Given the description of an element on the screen output the (x, y) to click on. 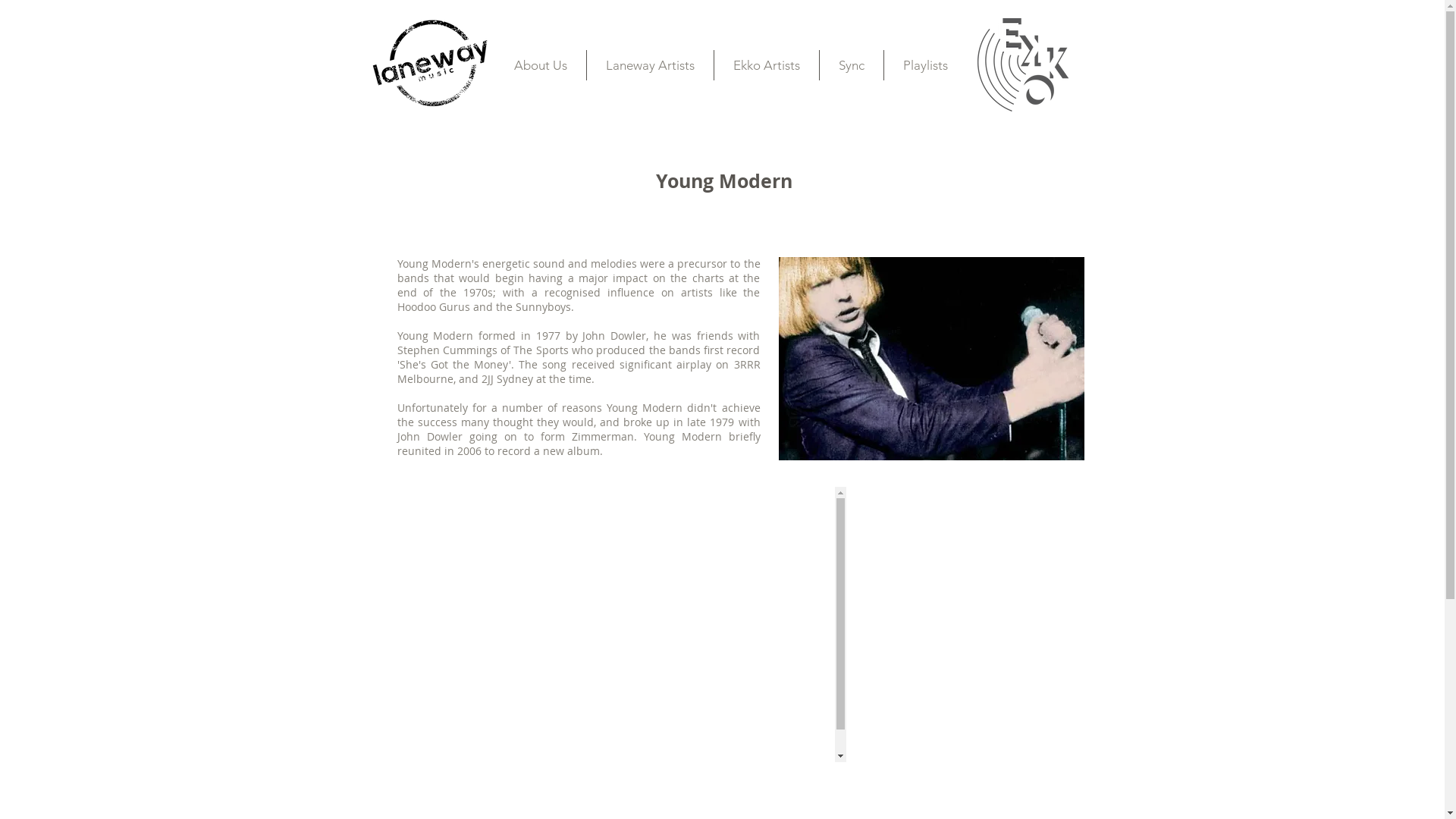
Ekko Artists Element type: text (766, 65)
About Us Element type: text (539, 65)
Playlists Element type: text (925, 65)
Site Search Element type: hover (581, 110)
Embedded Content Element type: hover (722, 624)
Sync Element type: text (850, 65)
Laneway Artists Element type: text (649, 65)
68447_Laneway Music_2.png Element type: hover (429, 62)
